Given the description of an element on the screen output the (x, y) to click on. 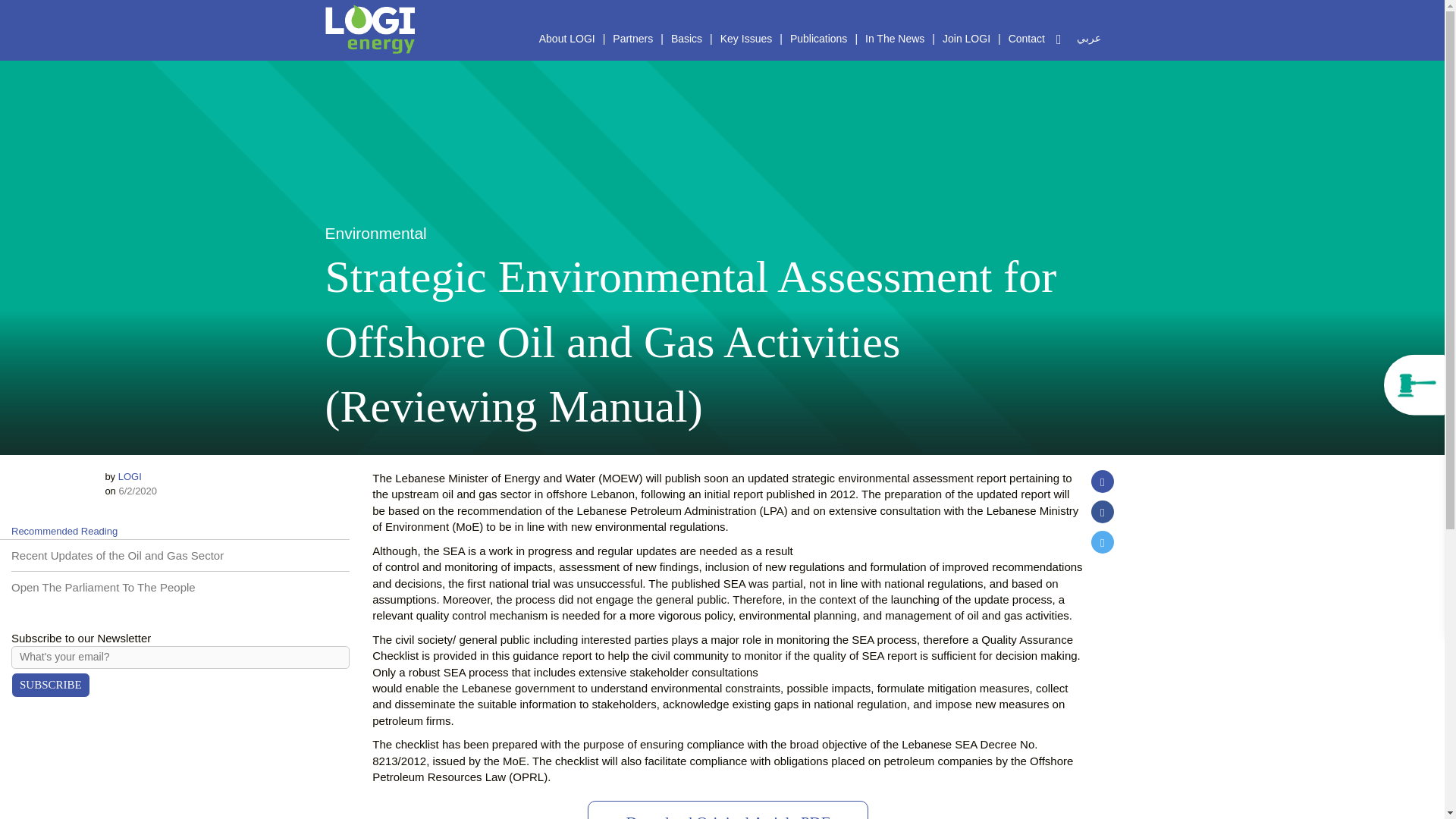
SUBSCRIBE (50, 684)
Download Original Article PDF (728, 809)
Open The Parliament To The People (103, 586)
About LOGI (566, 38)
Key Issues (745, 38)
Publications (819, 38)
LOGI (129, 476)
SUBSCRIBE (50, 684)
Partners (633, 38)
Basics (686, 38)
Contact (1026, 38)
Join LOGI (965, 38)
In The News (894, 38)
Recent Updates of the Oil and Gas Sector (117, 554)
